Given the description of an element on the screen output the (x, y) to click on. 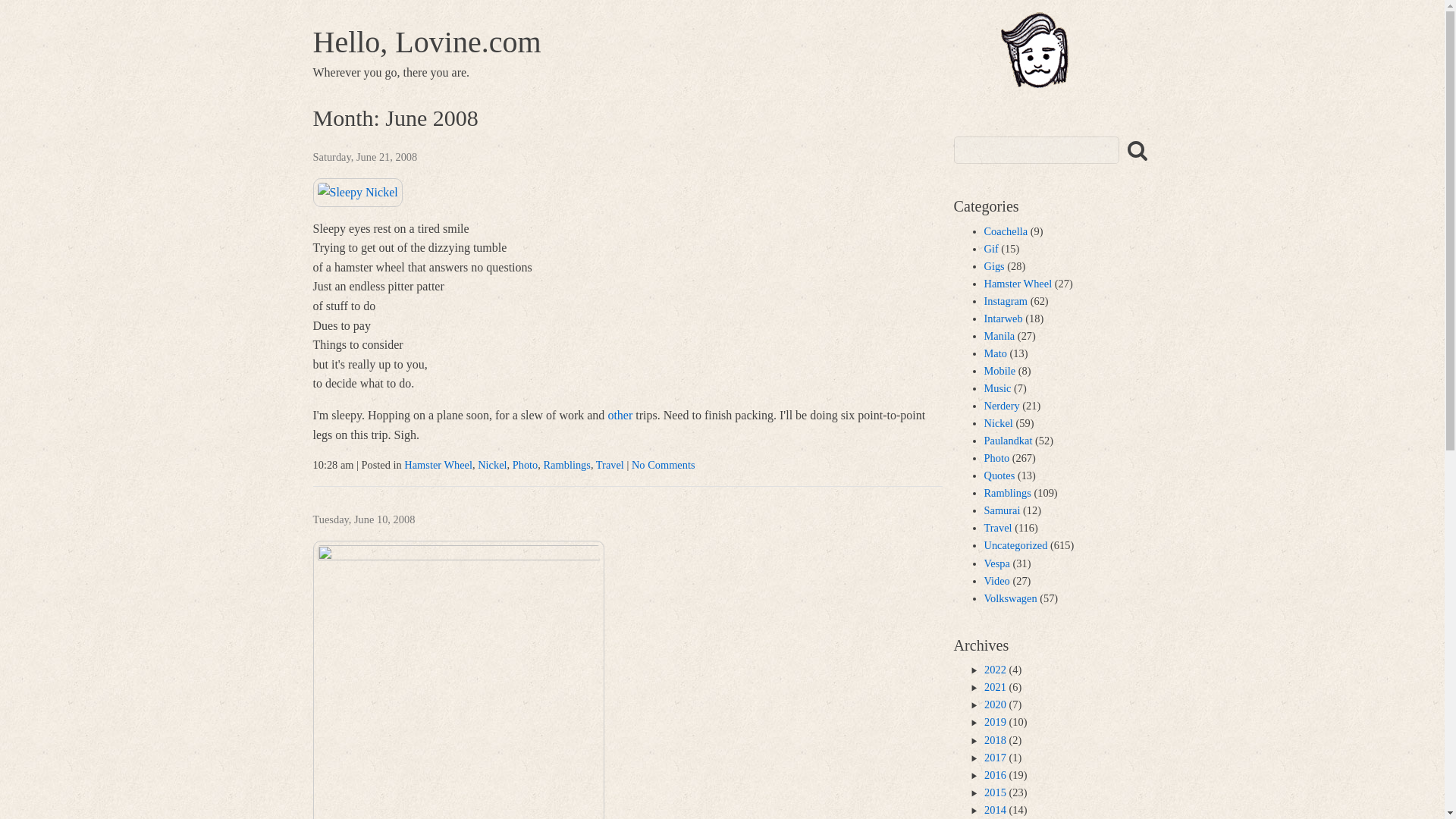
No Comments (663, 464)
Quotes (999, 475)
Nickel (998, 422)
Search (31, 13)
Coachella (1005, 231)
Travel (609, 464)
Photo (997, 458)
Photo (525, 464)
Instagram (1005, 300)
Gif (991, 248)
Ramblings (567, 464)
Mobile (1000, 370)
Gigs (994, 265)
Samurai (1002, 510)
Nickel (491, 464)
